Given the description of an element on the screen output the (x, y) to click on. 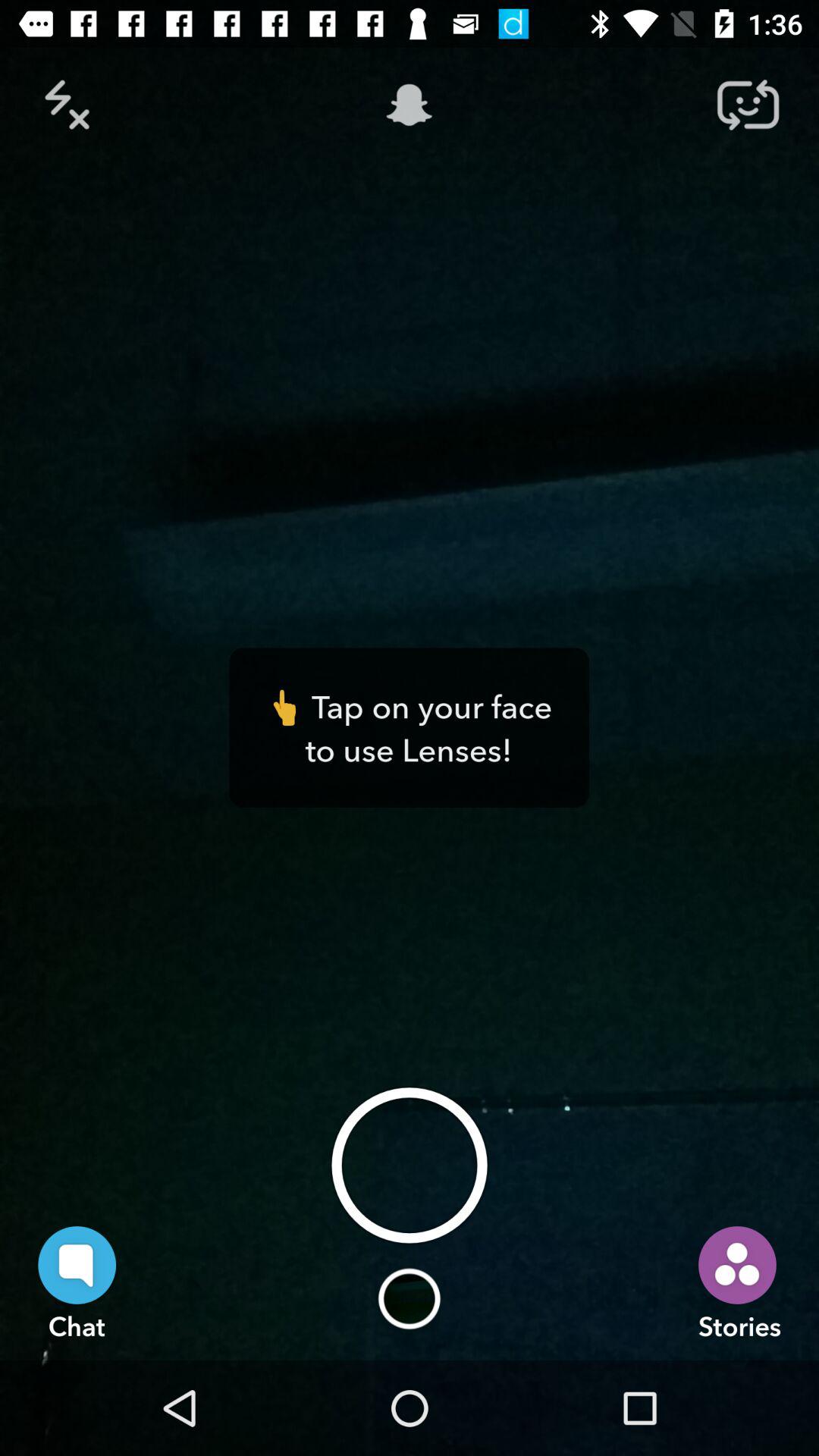
turn flash off/on (70, 104)
